Given the description of an element on the screen output the (x, y) to click on. 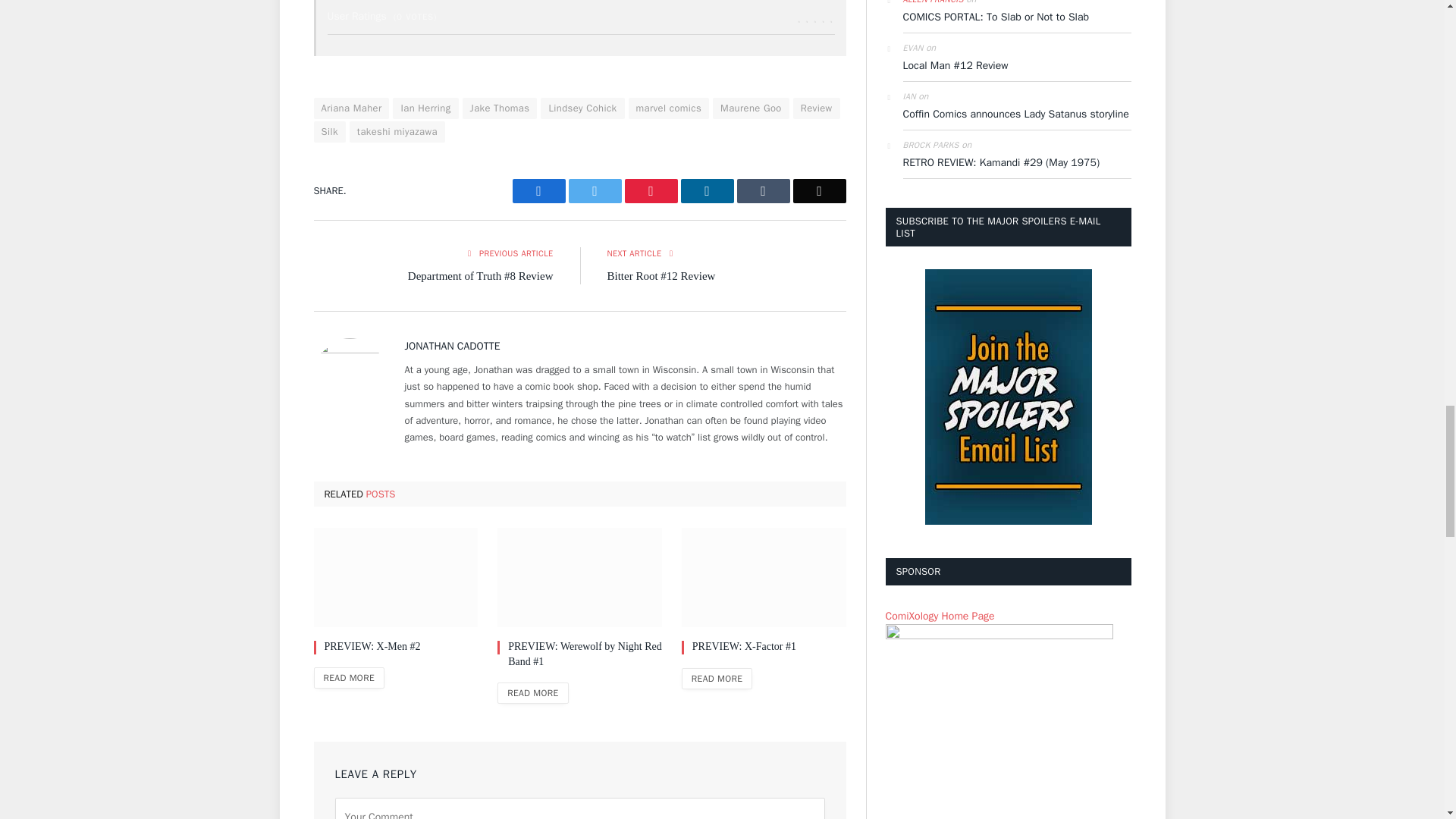
Share on Pinterest (651, 191)
Share on Facebook (539, 191)
Share on Twitter (595, 191)
